Given the description of an element on the screen output the (x, y) to click on. 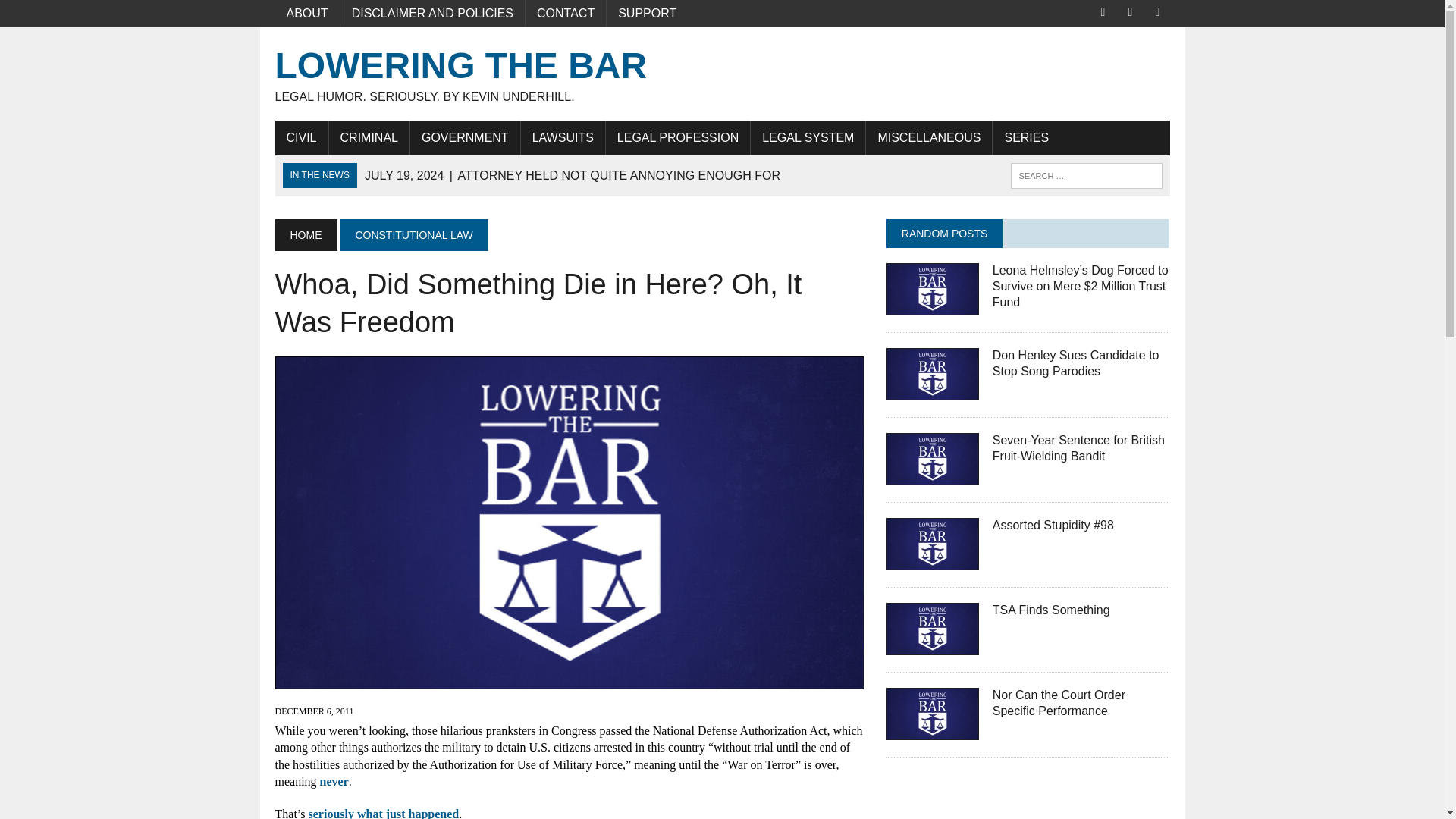
ABOUT (307, 13)
Lowering the Bar (722, 73)
SUPPORT (647, 13)
CONTACT (565, 13)
DISCLAIMER AND POLICIES (722, 73)
